Given the description of an element on the screen output the (x, y) to click on. 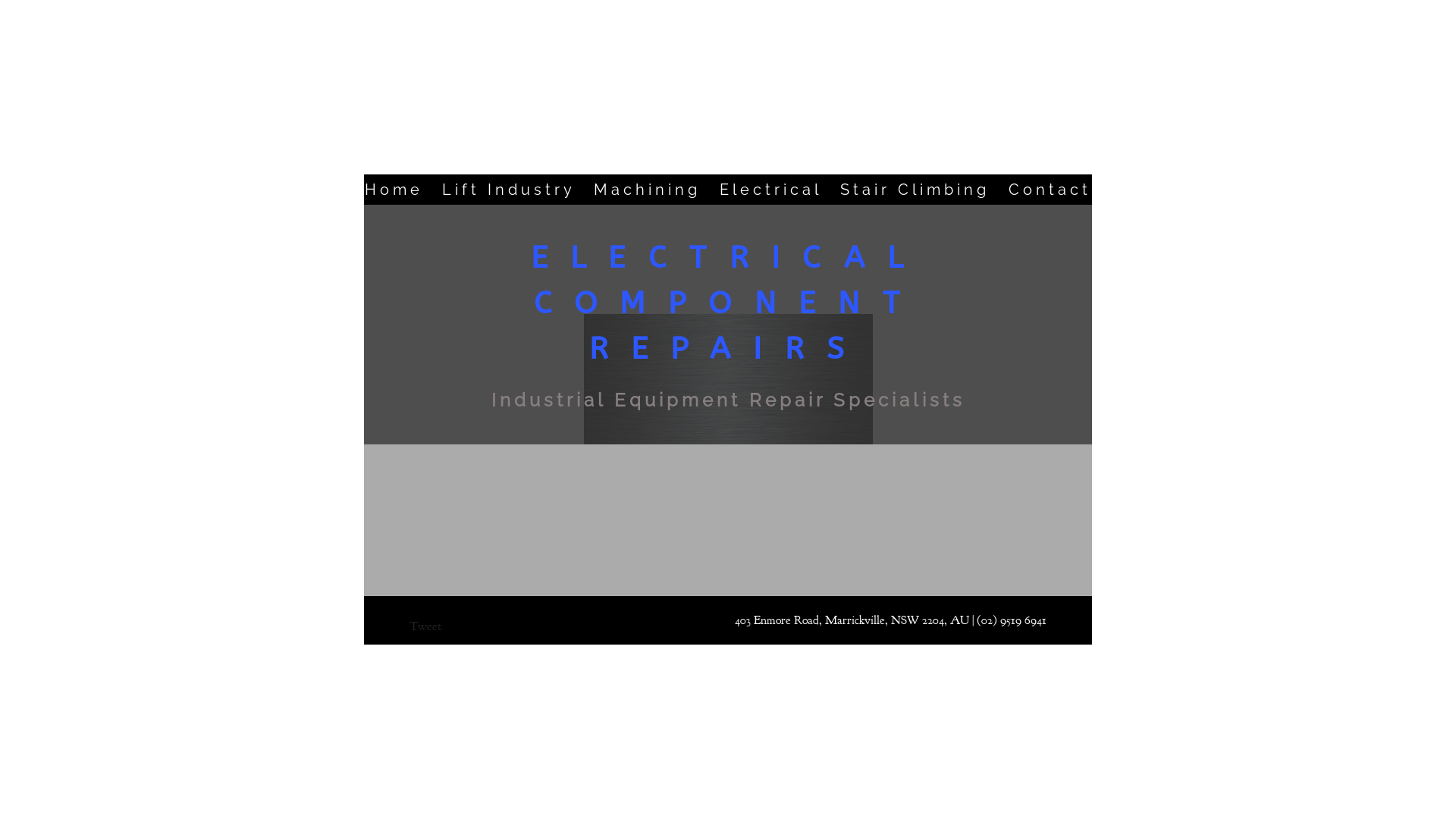
Contact Element type: text (1049, 189)
Electrical Element type: text (770, 189)
Machining Element type: text (646, 189)
Home Element type: text (393, 189)
ELECTRICAL COMPONENT REPAIRS Element type: text (727, 302)
Stair Climbing Element type: text (914, 189)
Lift Industry Element type: text (508, 189)
Tweet Element type: text (425, 625)
